Given the description of an element on the screen output the (x, y) to click on. 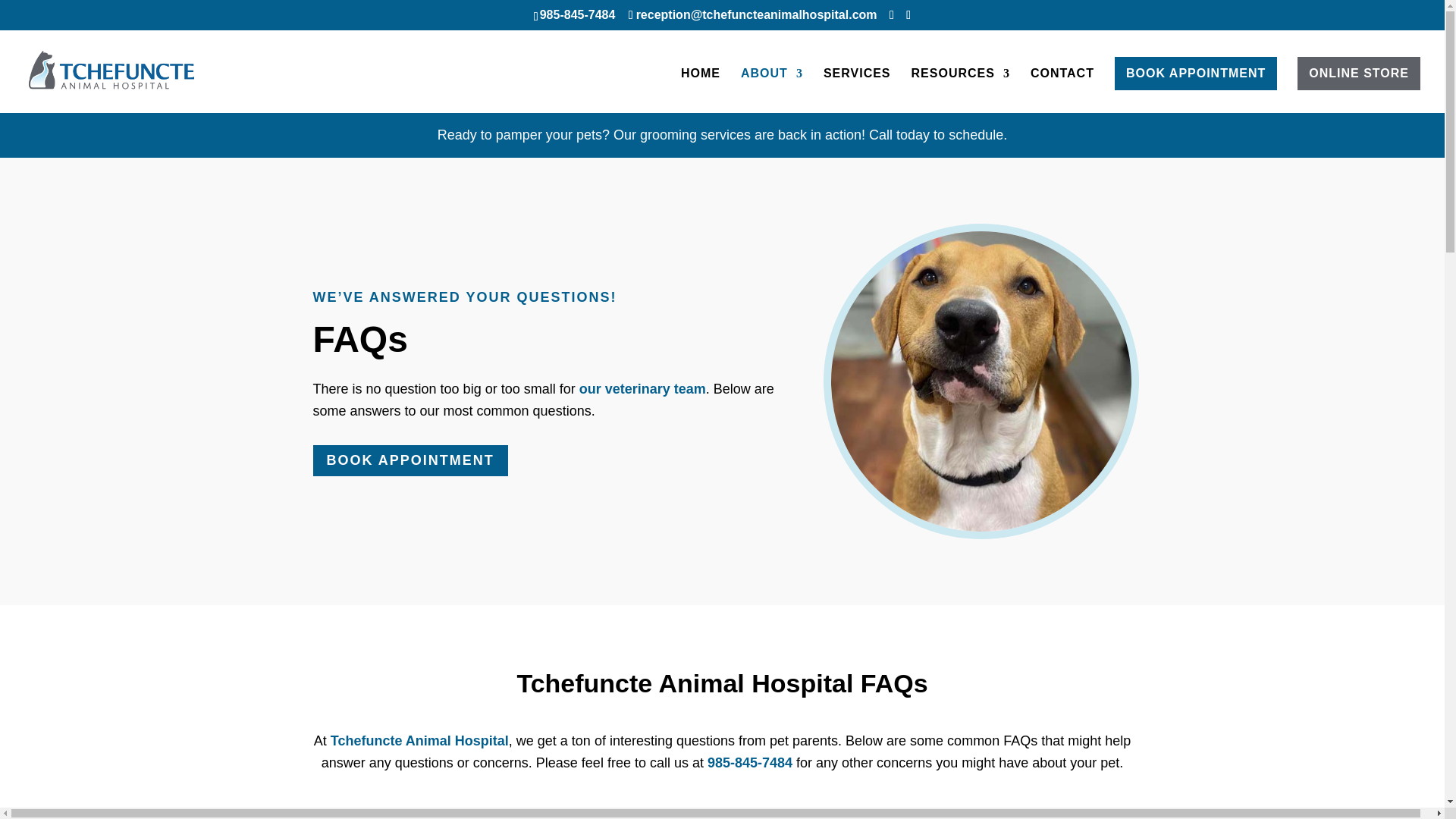
HOME (700, 86)
CONTACT (1062, 86)
Tchefuncte Animal Hospital (419, 740)
RESOURCES (960, 86)
banner-img-12 (981, 380)
ABOUT (772, 86)
SERVICES (857, 86)
985-845-7484 (749, 762)
985-845-7484 (577, 14)
BOOK APPOINTMENT (409, 460)
